Given the description of an element on the screen output the (x, y) to click on. 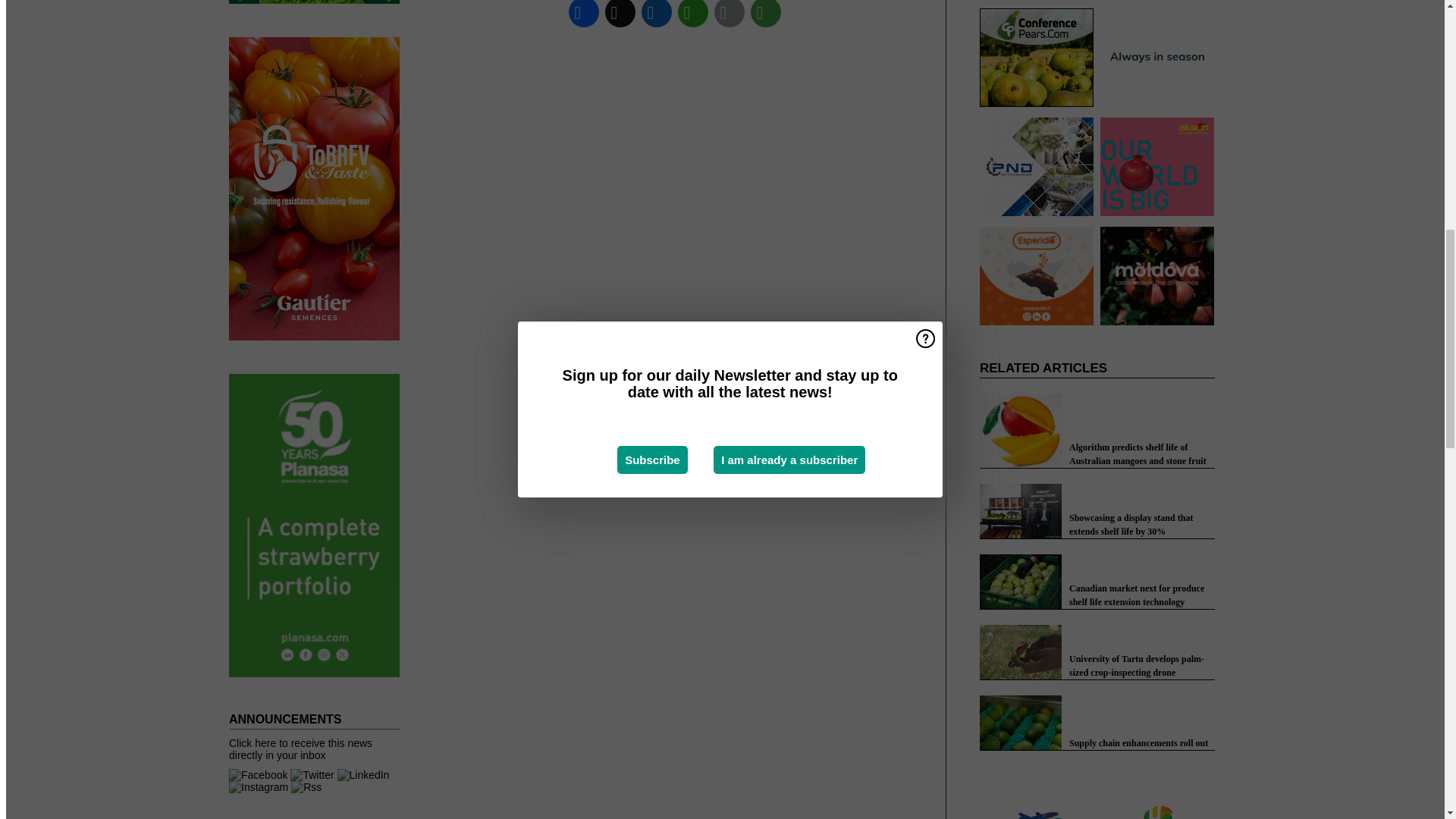
More Options (766, 15)
Email This (729, 15)
LinkedIn (657, 15)
Facebook (584, 15)
WhatsApp (693, 15)
